Given the description of an element on the screen output the (x, y) to click on. 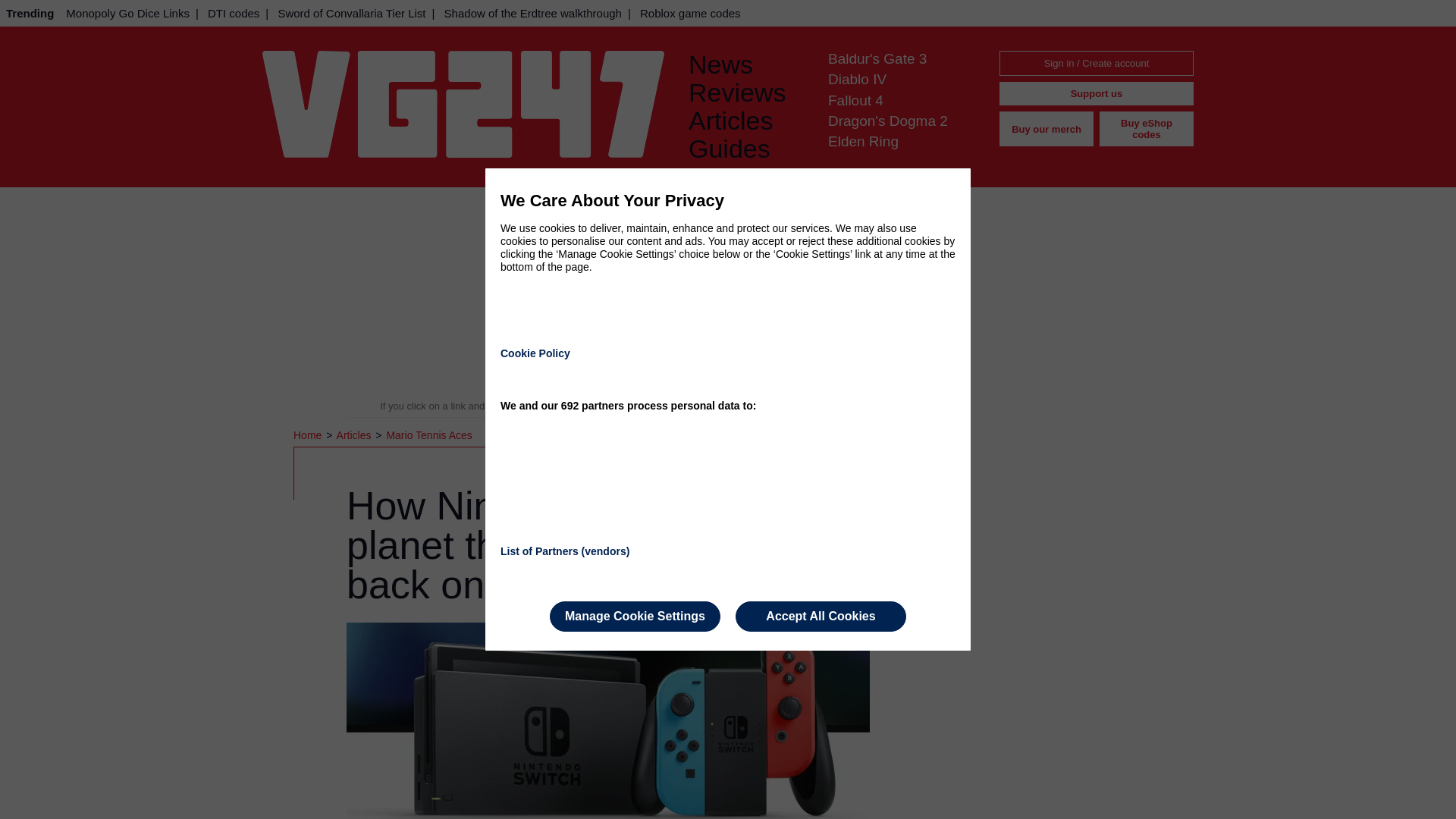
Home (309, 435)
Monopoly Go Dice Links (127, 13)
Elden Ring (863, 141)
DTI codes (233, 13)
Guides (745, 148)
Roblox game codes (689, 13)
Shadow of the Erdtree walkthrough (532, 13)
News (745, 64)
Articles (355, 435)
Home (309, 435)
